Given the description of an element on the screen output the (x, y) to click on. 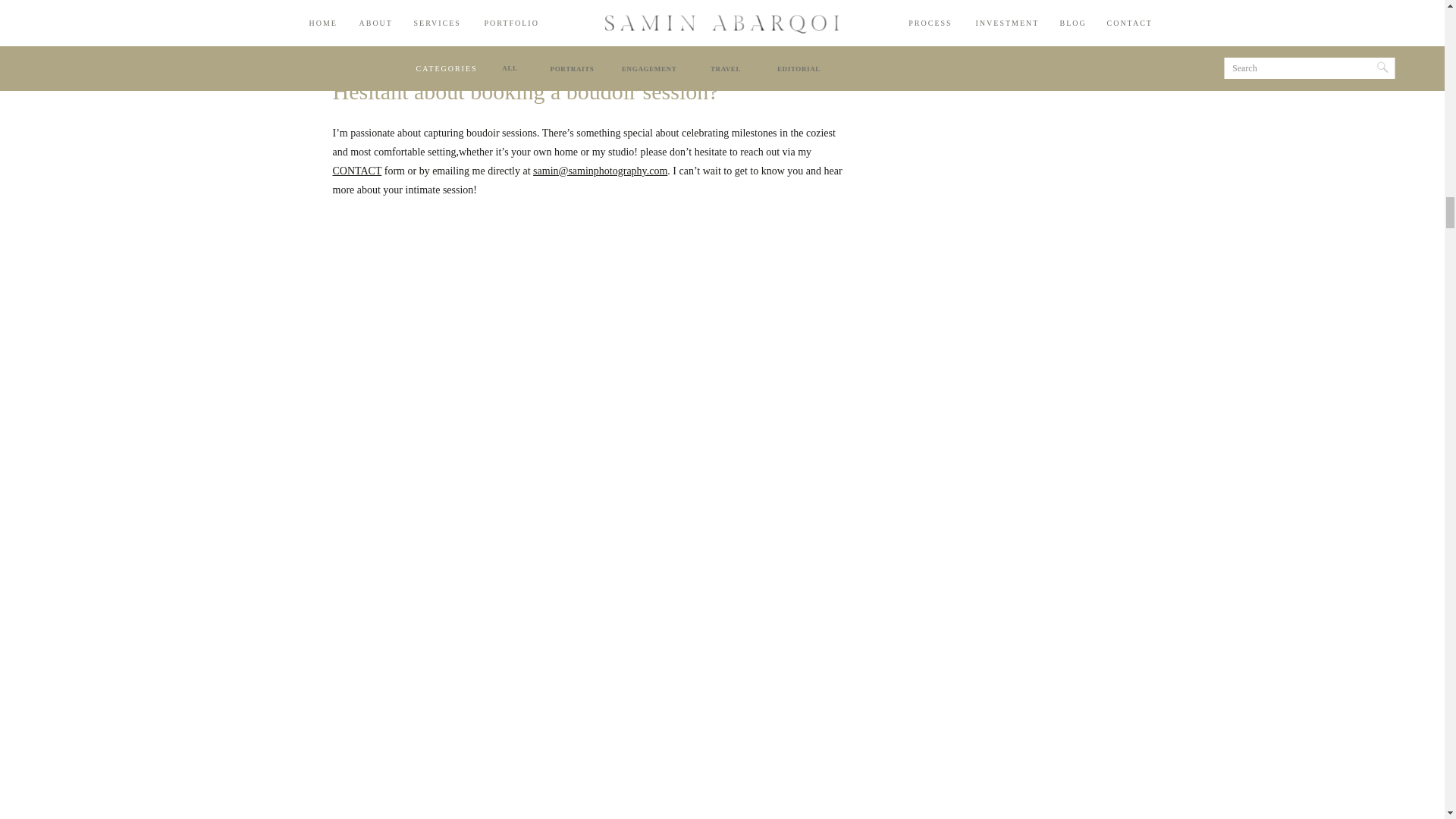
OM COUTURE (424, 35)
SAMIN ABARQOI (484, 22)
PHOTO VISION (691, 49)
LIZA CHILD (435, 49)
CONTACT (356, 170)
HANAKI FLORAL  (778, 22)
HANNAH TIKENNAN  (636, 35)
ALISHA HOPPS (646, 22)
CAMILIA SUPPLY  (778, 35)
